Given the description of an element on the screen output the (x, y) to click on. 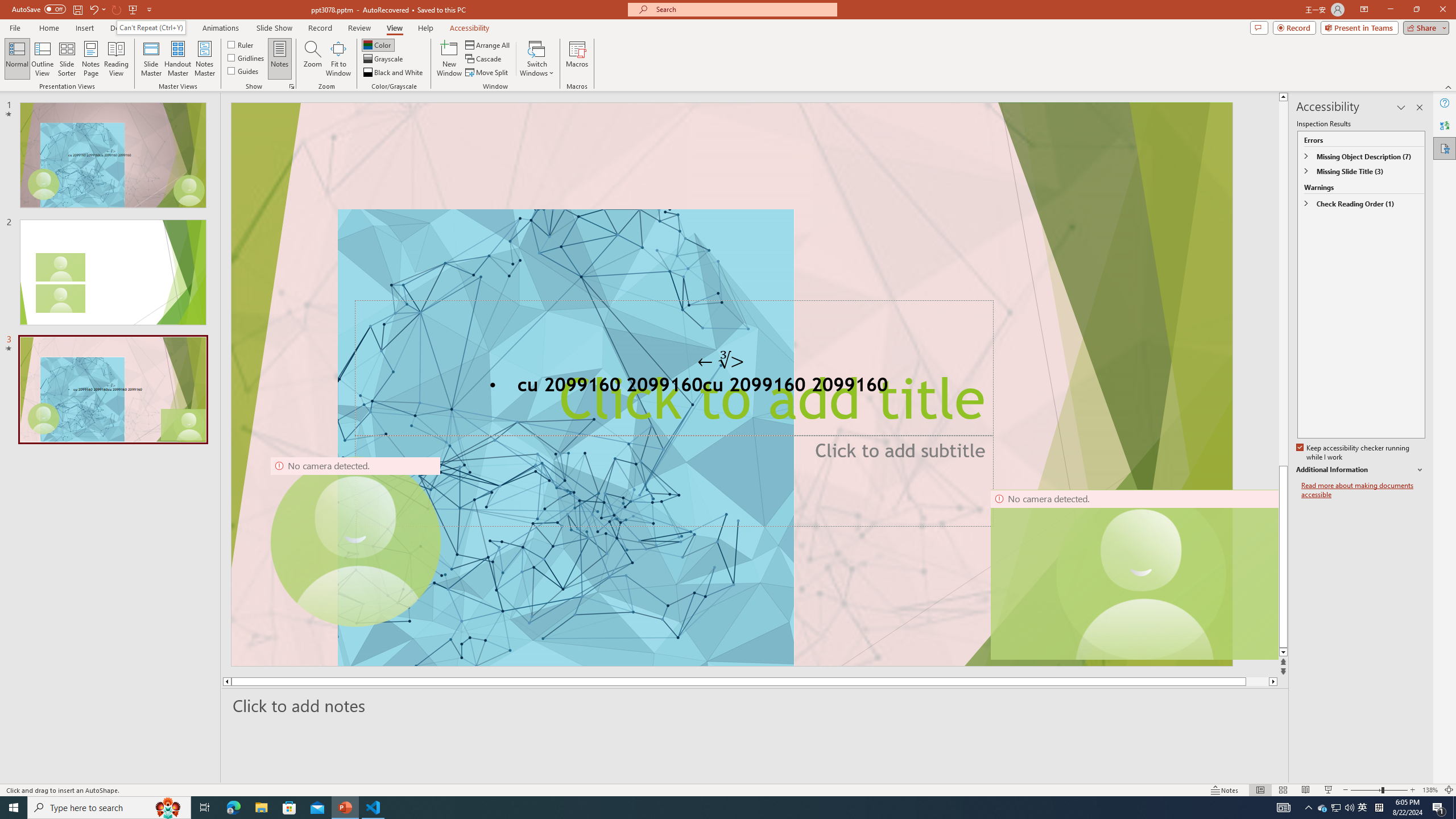
Guides (243, 69)
Cascade (484, 58)
Zoom... (312, 58)
Camera 14, No camera detected. (1134, 574)
Fit to Window (338, 58)
Color (377, 44)
